Given the description of an element on the screen output the (x, y) to click on. 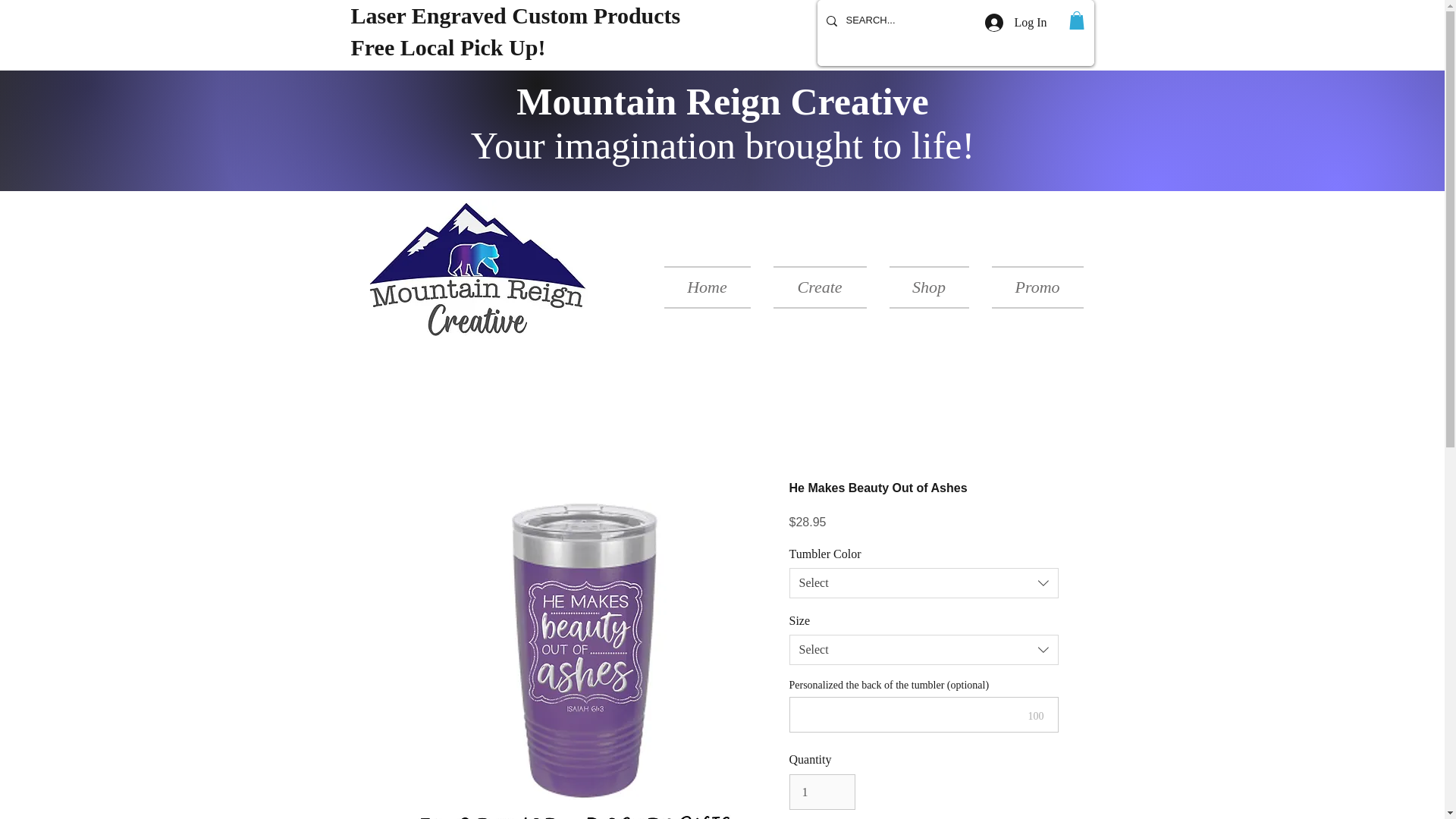
Select (923, 583)
Home (712, 287)
Select (923, 649)
1 (821, 791)
Log In (1015, 22)
Create (819, 287)
Promo (1031, 287)
Shop (928, 287)
